Given the description of an element on the screen output the (x, y) to click on. 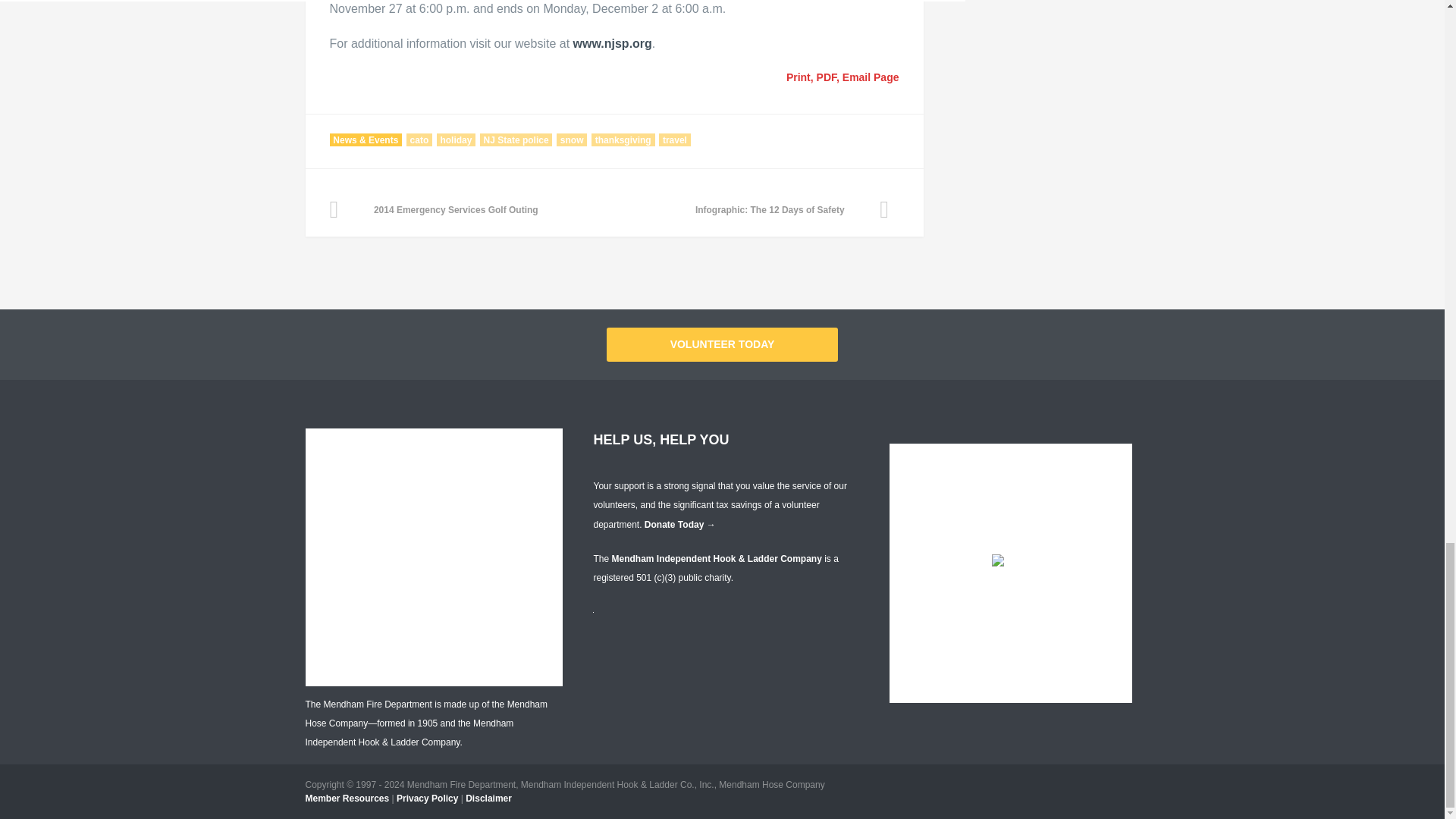
thanksgiving (623, 139)
www.njsp.org (612, 42)
Print, PDF, Email Page (839, 77)
NJ State Police (612, 42)
NJ State police (516, 139)
snow (571, 139)
cato (419, 139)
holiday (456, 139)
